Given the description of an element on the screen output the (x, y) to click on. 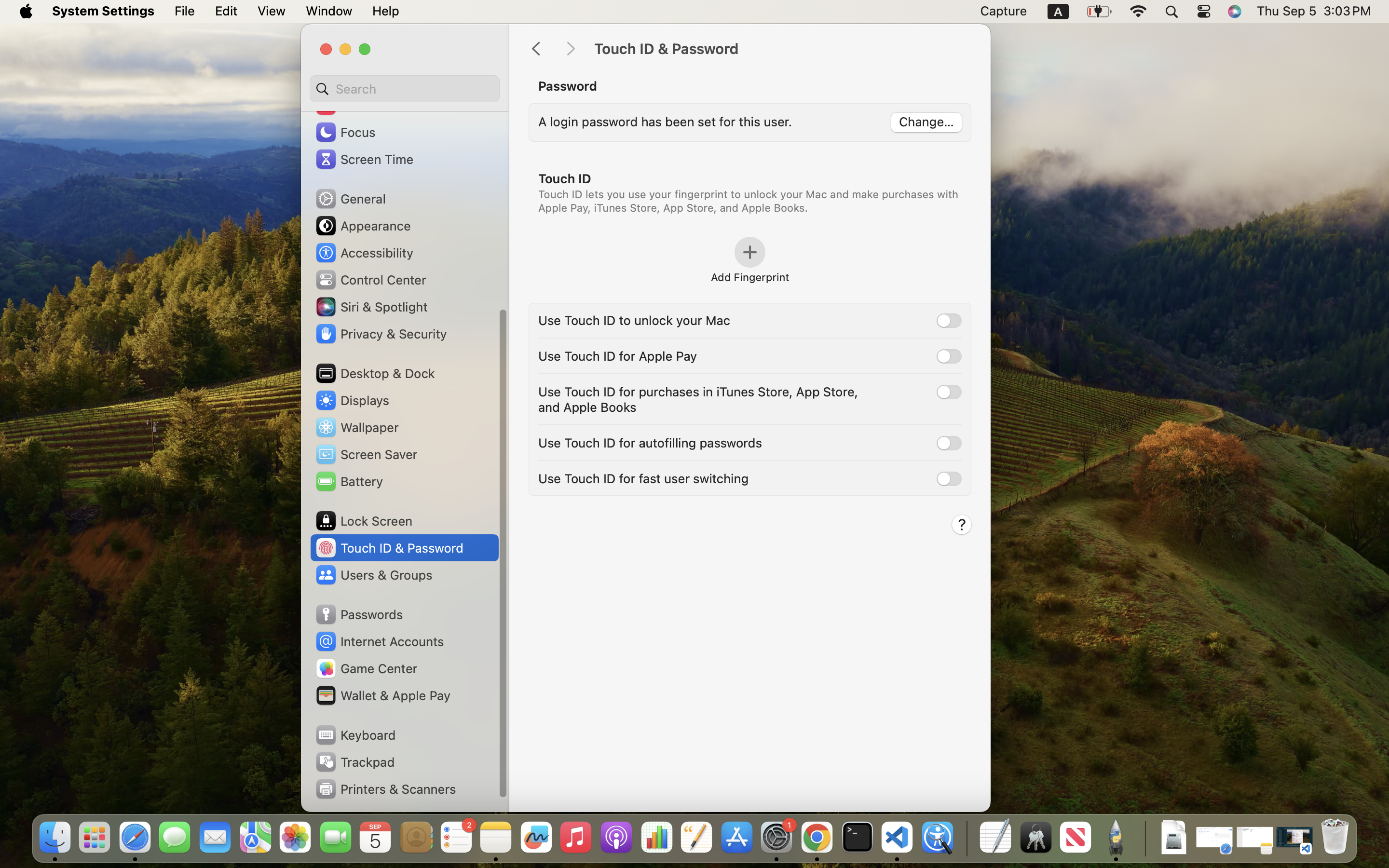
Displays Element type: AXStaticText (351, 399)
Screen Saver Element type: AXStaticText (365, 453)
Keyboard Element type: AXStaticText (354, 734)
Use Touch ID for purchases in iTunes Store, App Store, and Apple Books Element type: AXStaticText (699, 398)
0.4285714328289032 Element type: AXDockItem (965, 837)
